Given the description of an element on the screen output the (x, y) to click on. 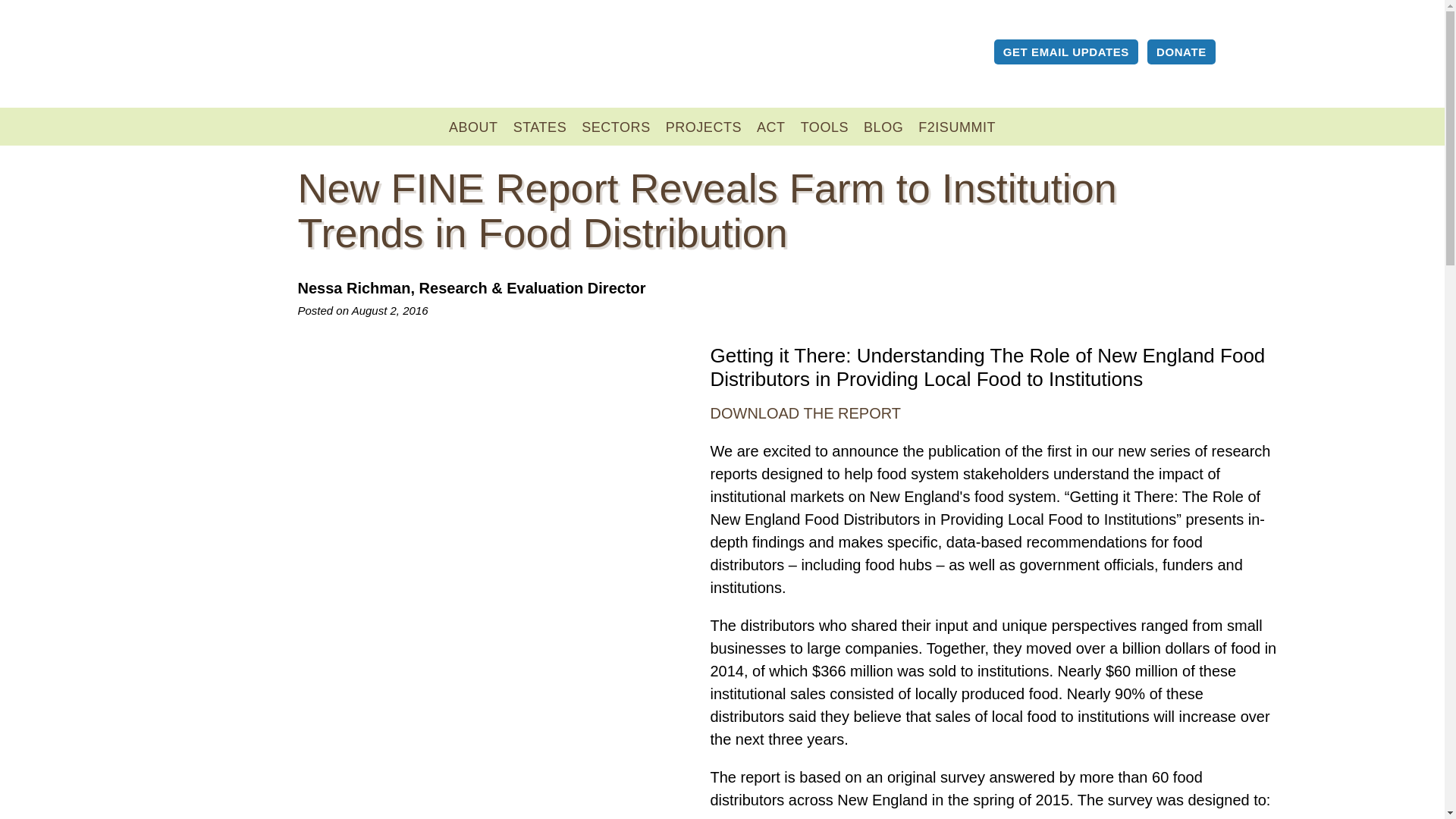
BLOG (883, 127)
GET EMAIL UPDATES (1066, 51)
STATES (540, 127)
DONATE (1181, 51)
PROJECTS (703, 127)
FINE: Farm to Institution New England (329, 56)
DOWNLOAD THE REPORT (805, 412)
Search (1239, 54)
F2ISUMMIT (957, 127)
TOOLS (824, 127)
ACT (771, 127)
SECTORS (615, 127)
ABOUT (473, 127)
